Given the description of an element on the screen output the (x, y) to click on. 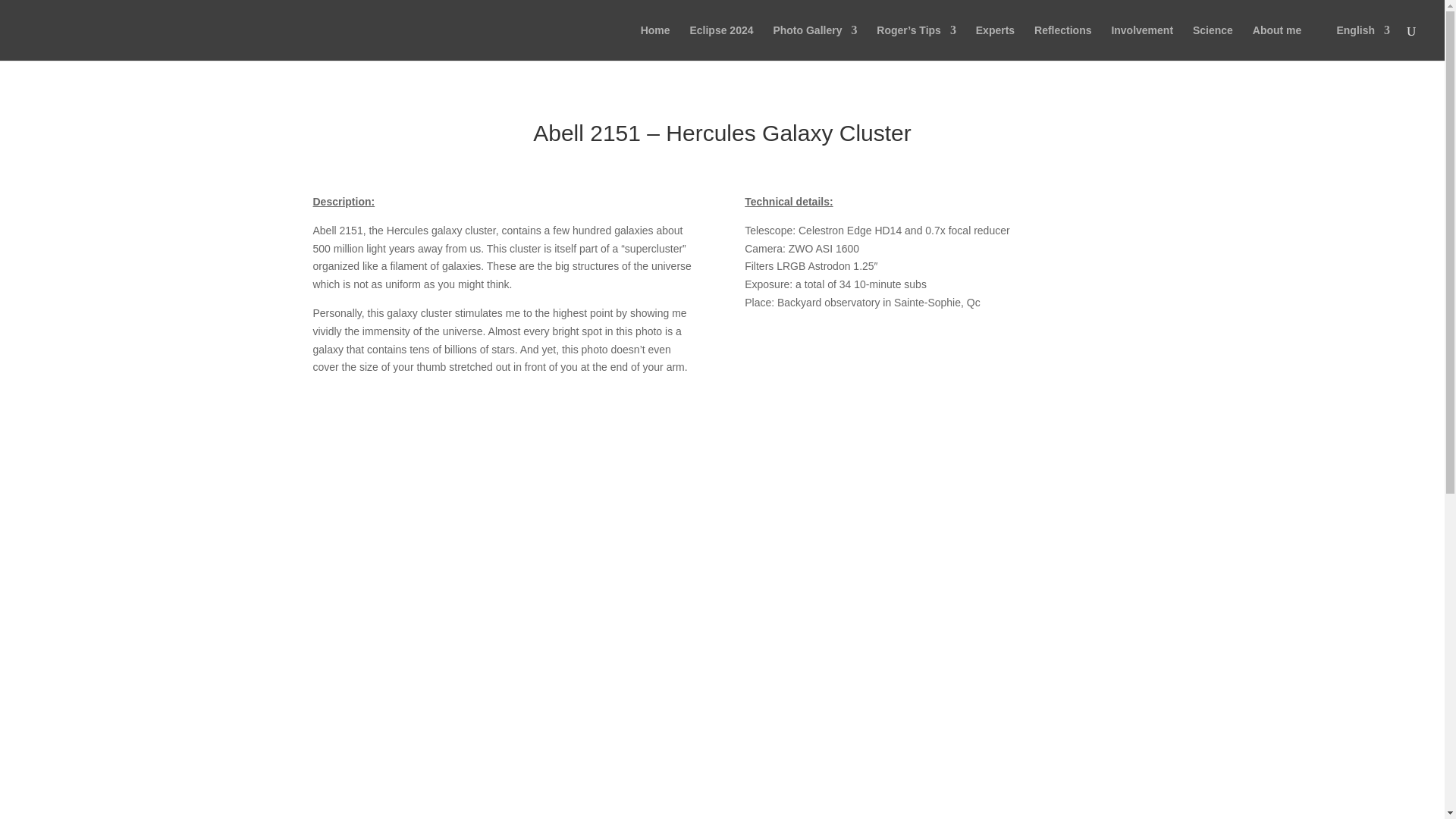
English (1355, 42)
Eclipse 2024 (720, 42)
Reflections (1061, 42)
Photo Gallery (815, 42)
Science (1212, 42)
Experts (994, 42)
Involvement (1141, 42)
About me (1276, 42)
